Given the description of an element on the screen output the (x, y) to click on. 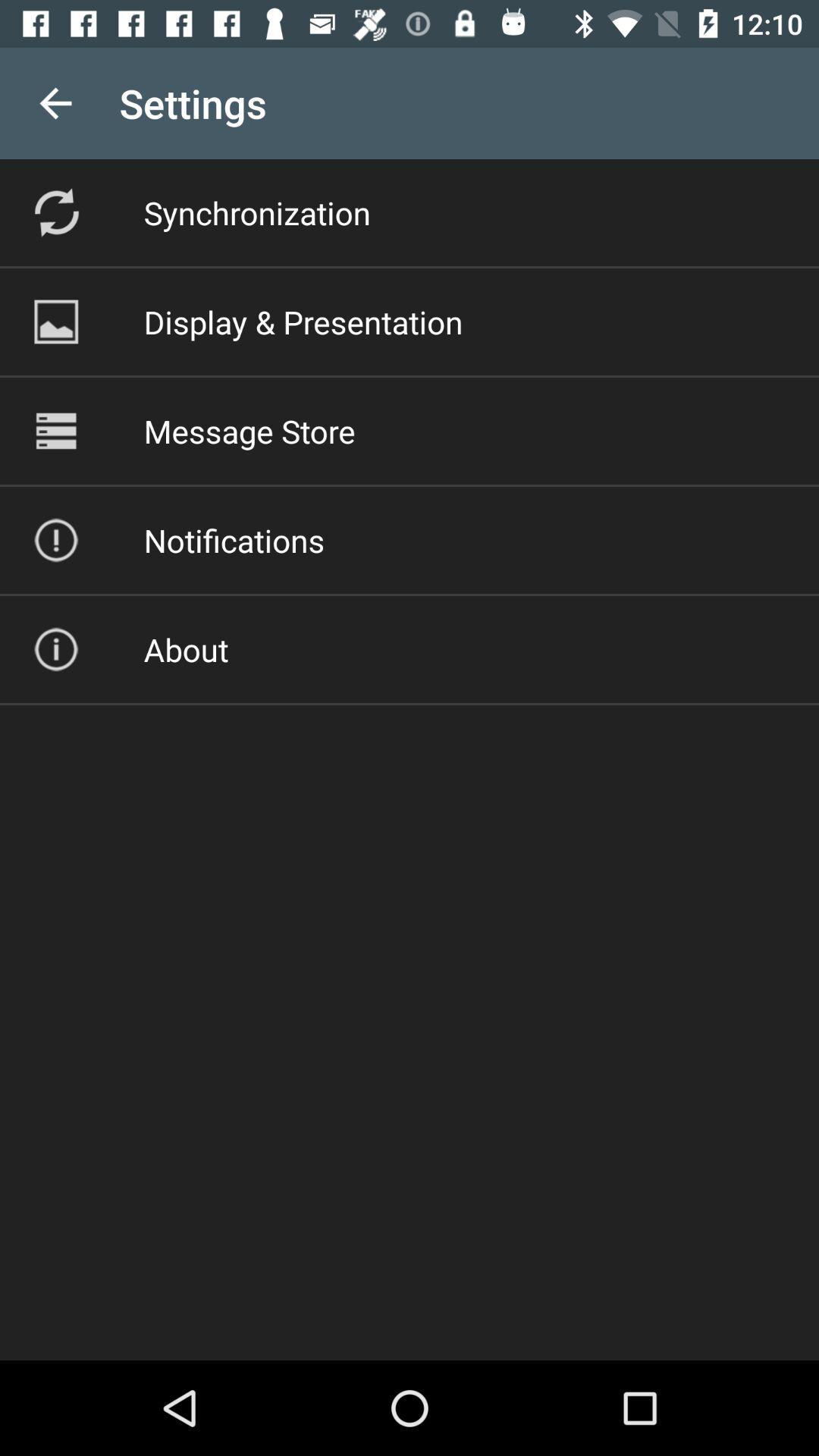
tap the app next to the settings app (55, 103)
